Given the description of an element on the screen output the (x, y) to click on. 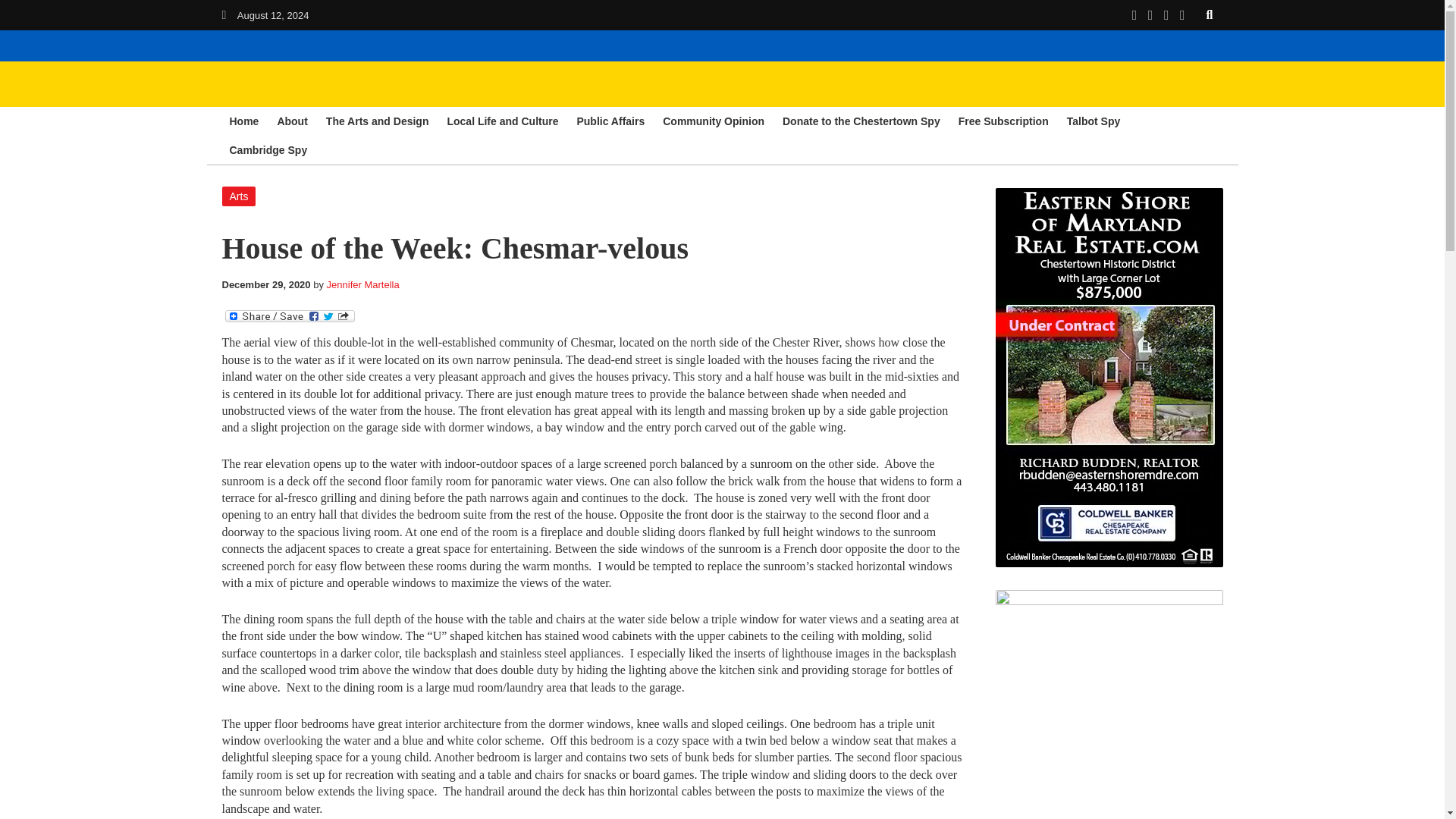
Search (1209, 14)
Search (1209, 14)
Search (1209, 14)
